Given the description of an element on the screen output the (x, y) to click on. 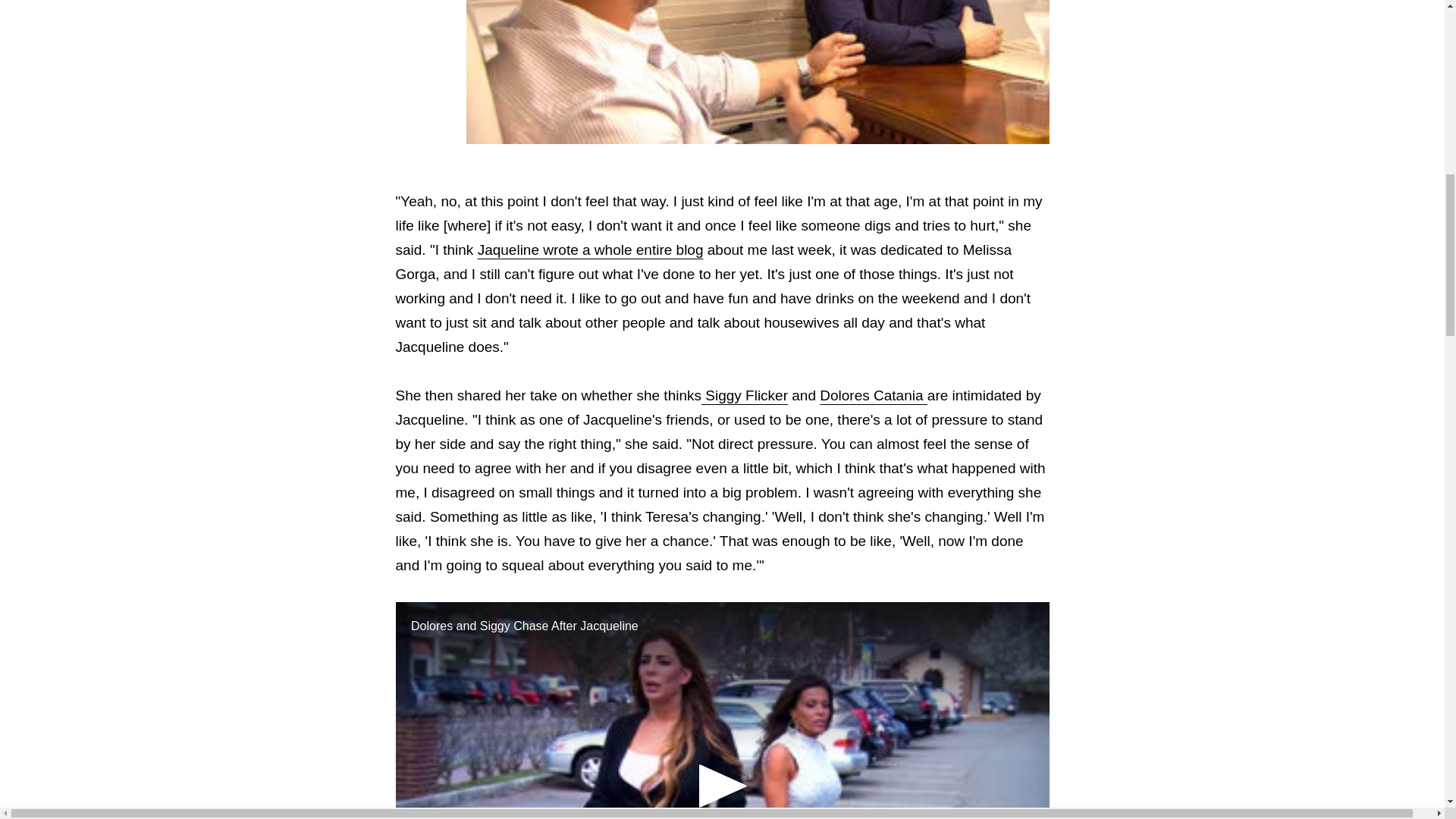
Dolores Catania (873, 395)
Jaqueline wrote a whole entire blog (590, 249)
Siggy Flicker (744, 395)
